Given the description of an element on the screen output the (x, y) to click on. 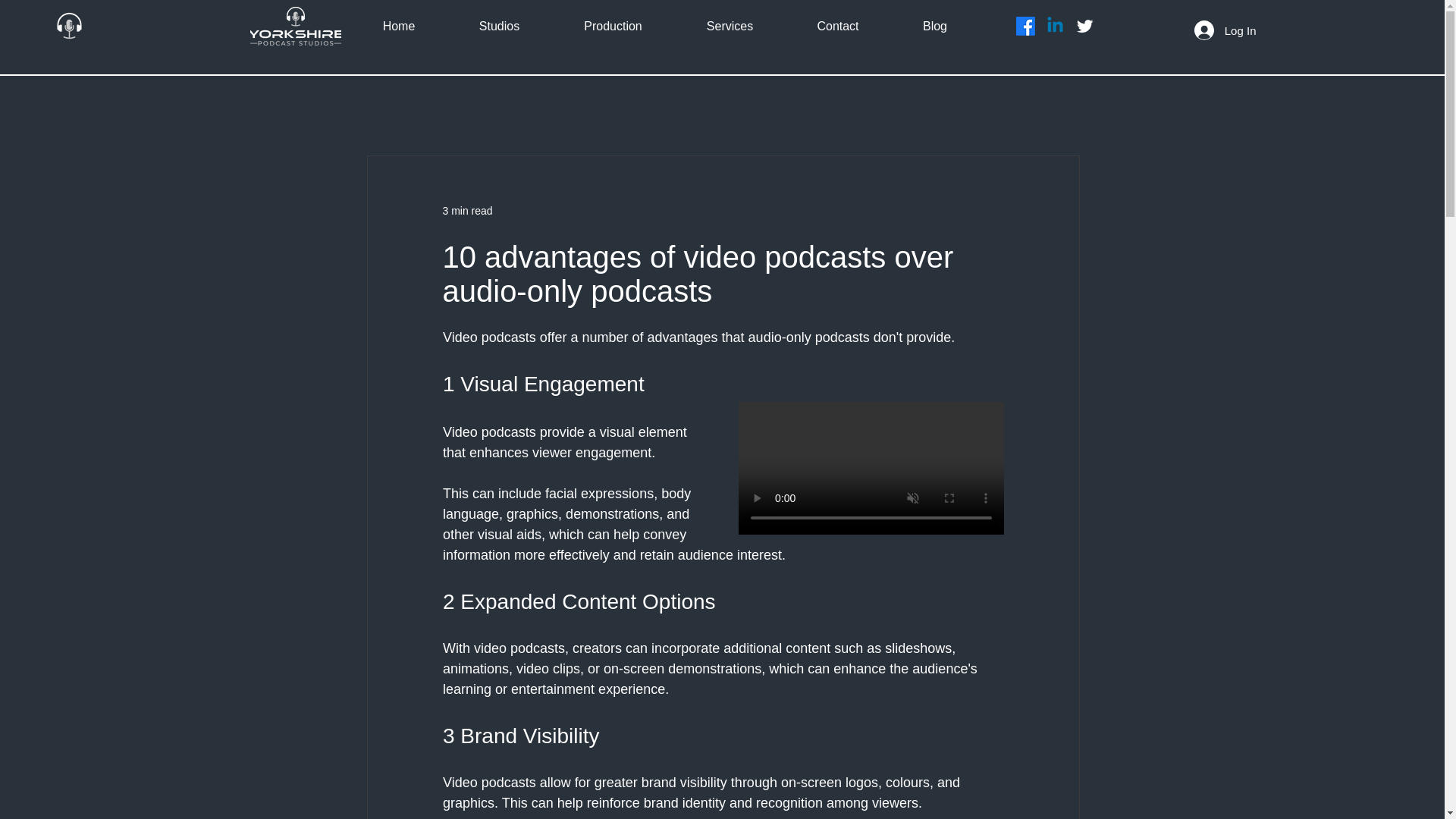
Studios (498, 25)
Services (730, 25)
Blog (933, 25)
Home (398, 25)
Production (613, 25)
Contact (838, 25)
3 min read (467, 210)
Log In (1224, 30)
